Given the description of an element on the screen output the (x, y) to click on. 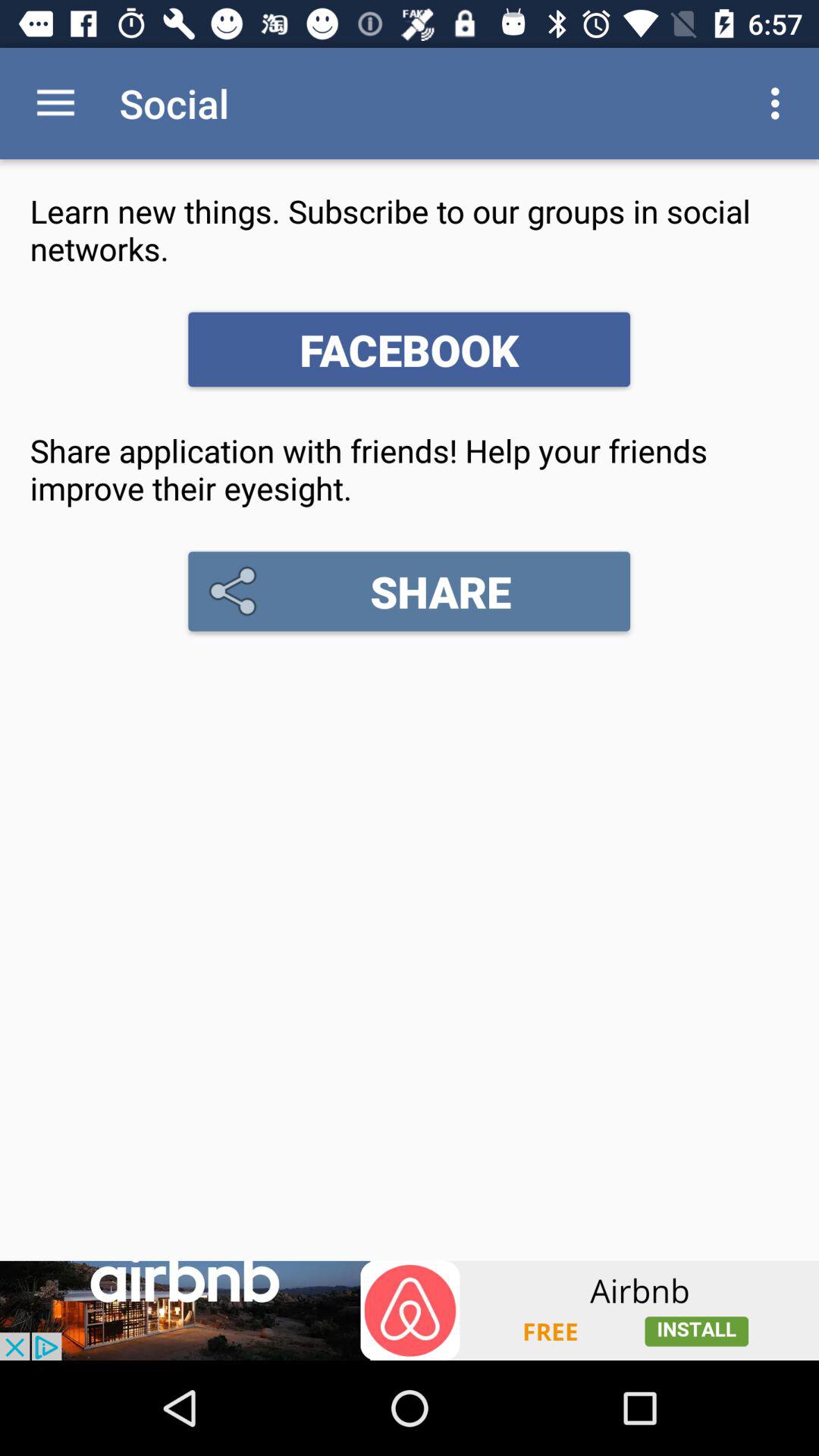
banner advertisement (409, 1310)
